Given the description of an element on the screen output the (x, y) to click on. 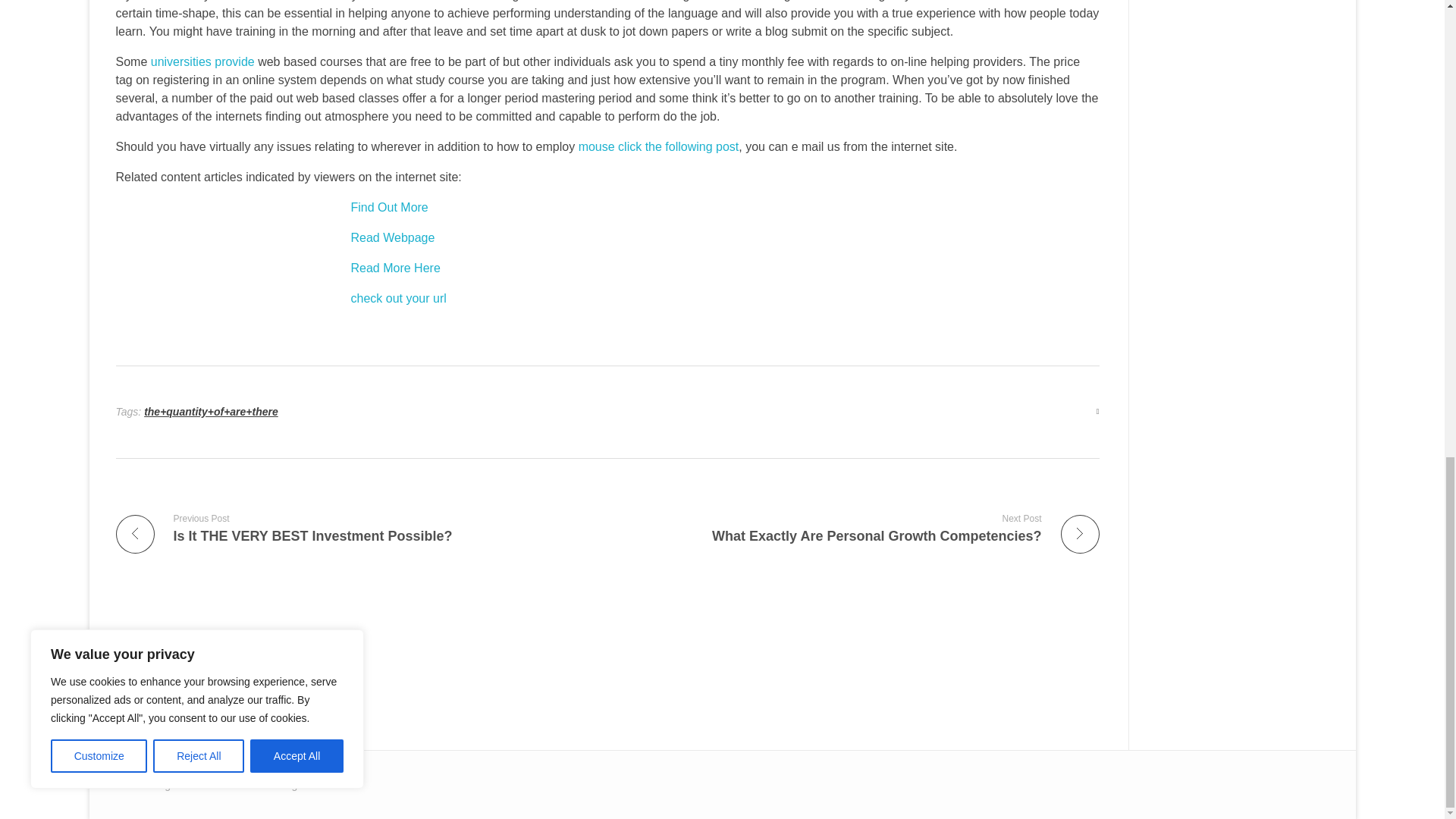
mouse click the following post (658, 146)
Read More Here (394, 267)
universities provide (202, 61)
Find Out More (859, 527)
check out your url (355, 527)
Read Webpage (389, 206)
